Given the description of an element on the screen output the (x, y) to click on. 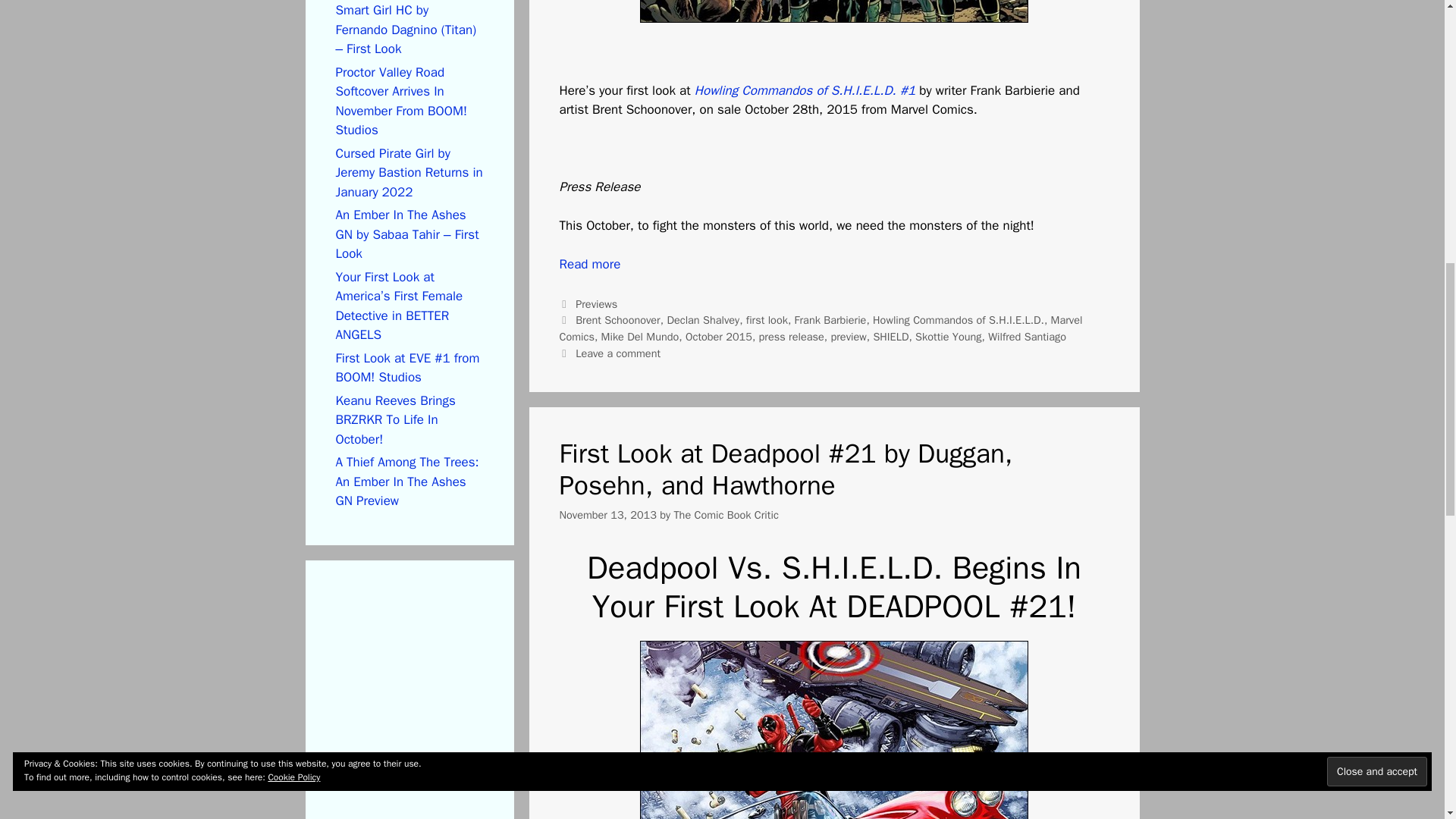
Scroll back to top (1406, 720)
Howling Commandos of S.H.I.E.L.D. (957, 319)
View all posts by The Comic Book Critic (724, 514)
press release (791, 336)
first look (766, 319)
Brent Schoonover (618, 319)
Marvel Comics (821, 327)
Read more (590, 263)
Advertisement (448, 708)
Frank Barbierie (830, 319)
Declan Shalvey (702, 319)
October 2015 (718, 336)
Mike Del Mundo (640, 336)
Previews (596, 304)
